Given the description of an element on the screen output the (x, y) to click on. 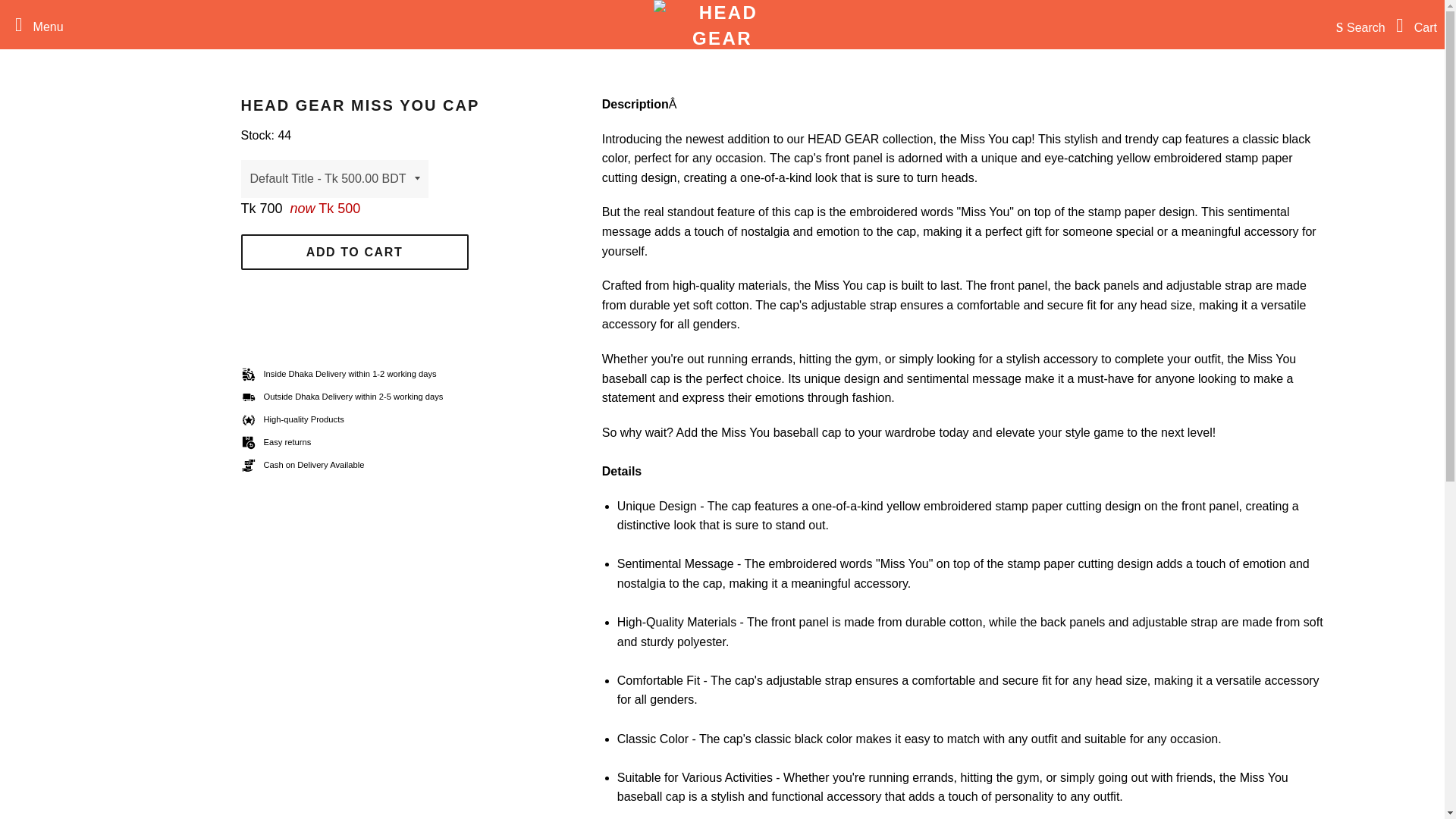
Search (1356, 23)
Cart (1413, 23)
Menu (35, 24)
ADD TO CART (354, 252)
